Given the description of an element on the screen output the (x, y) to click on. 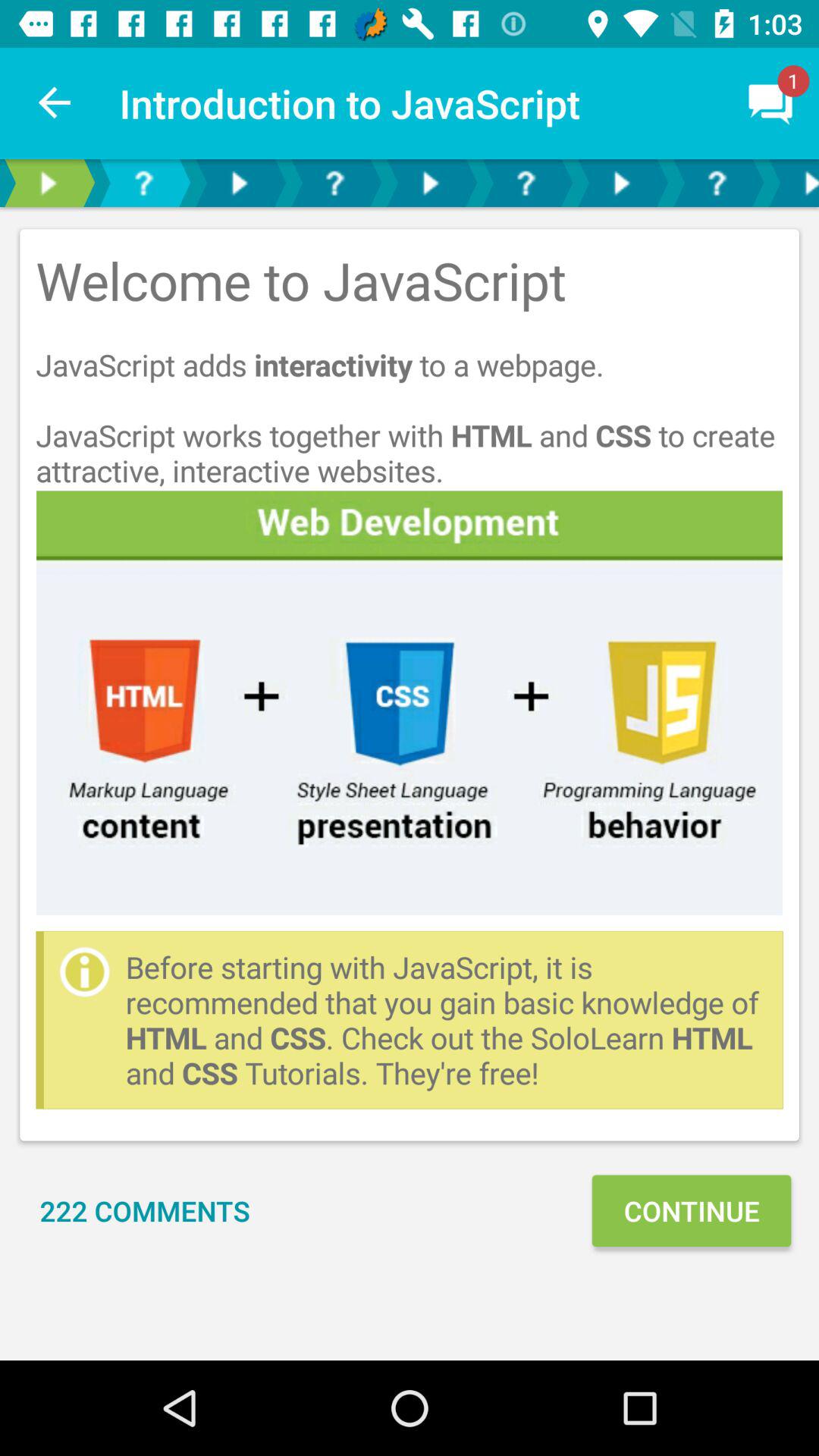
get help with current topic (525, 183)
